Given the description of an element on the screen output the (x, y) to click on. 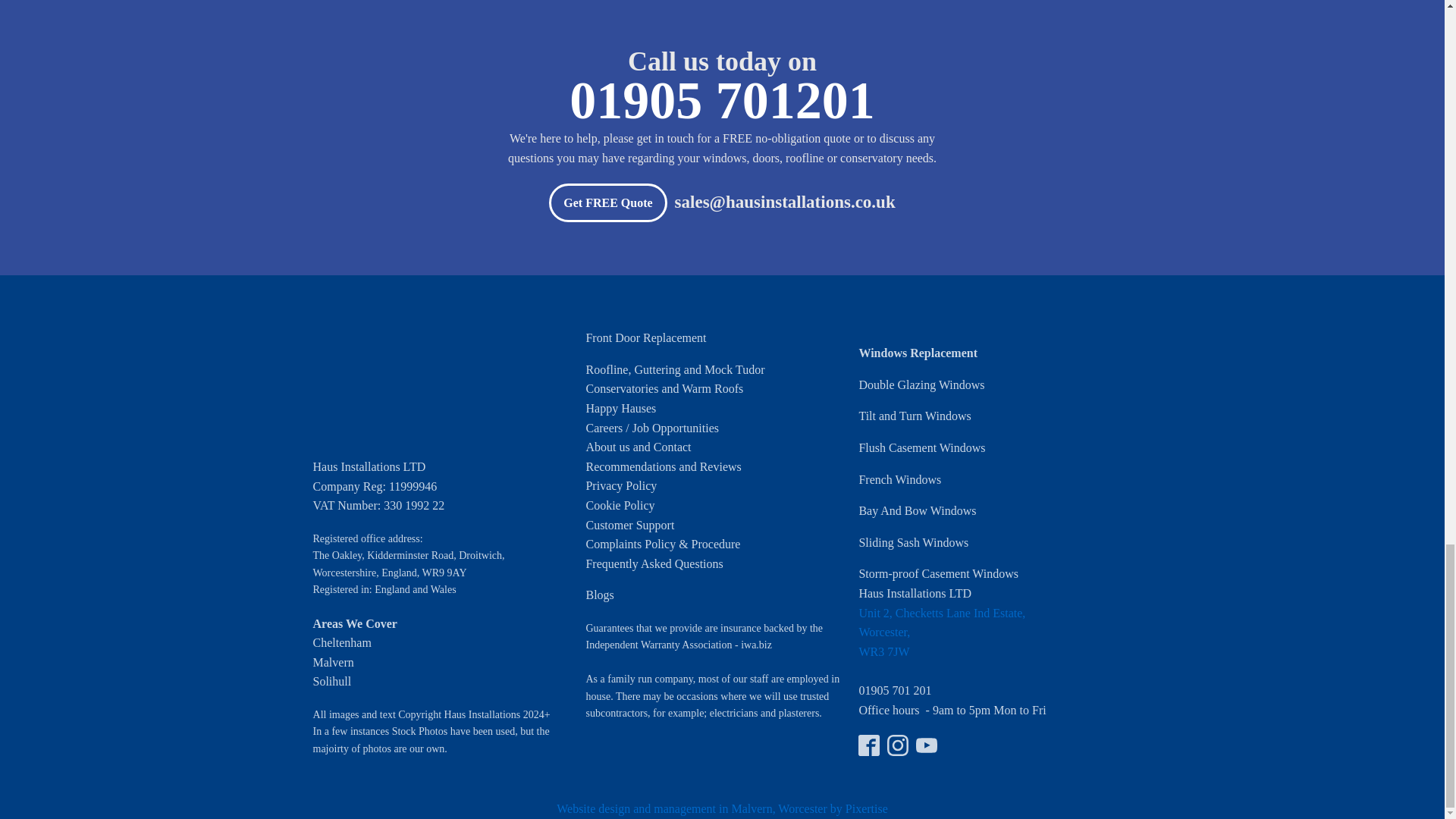
Cheltenham (342, 642)
Get FREE Quote (607, 202)
01905 701201 (722, 105)
